Given the description of an element on the screen output the (x, y) to click on. 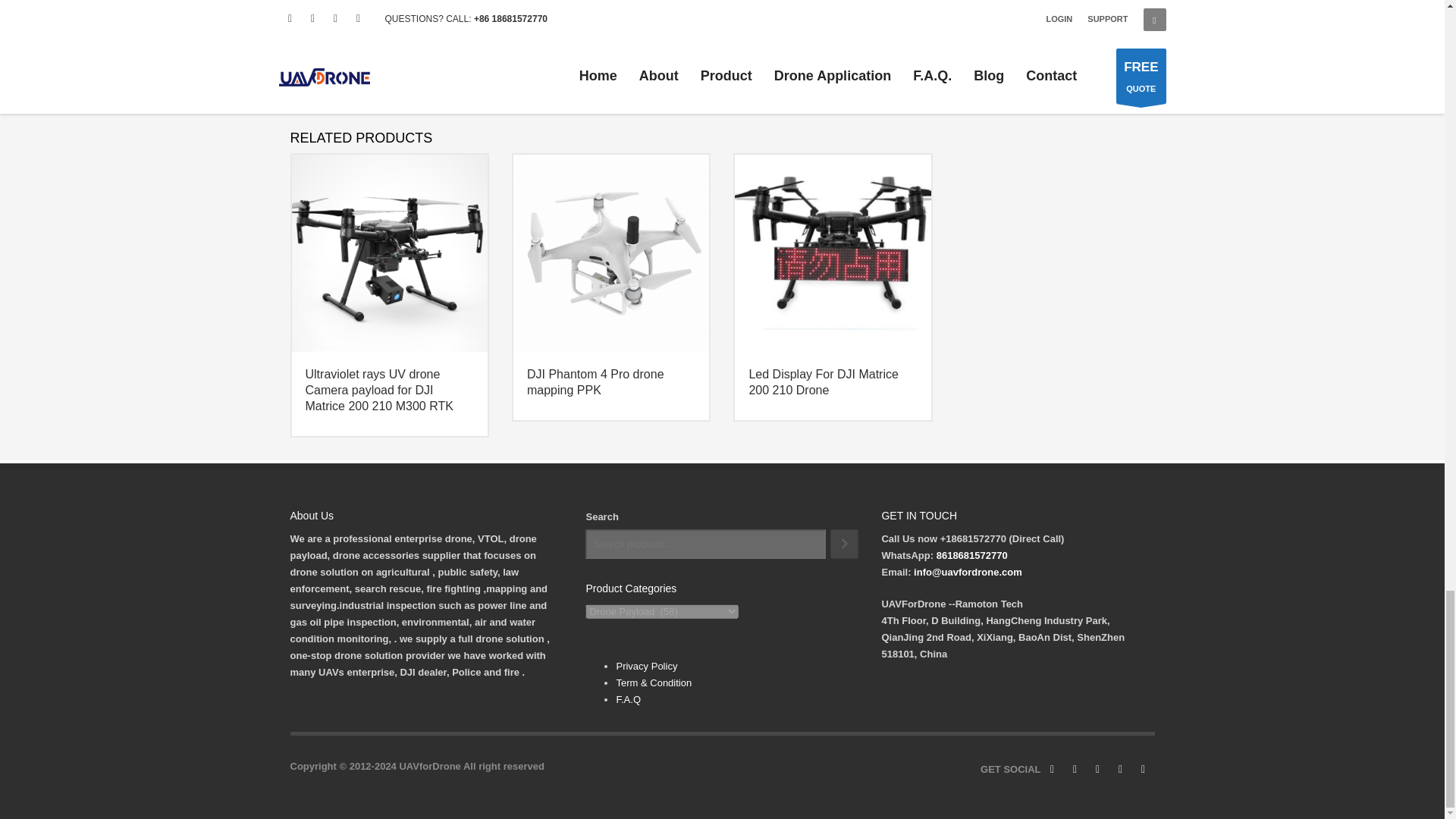
Phantom 4 PPK (611, 252)
LED Display-1 (832, 252)
Follow our instagram! (1074, 769)
Pinterest (1097, 769)
Like us on Facebook! (1051, 769)
